Given the description of an element on the screen output the (x, y) to click on. 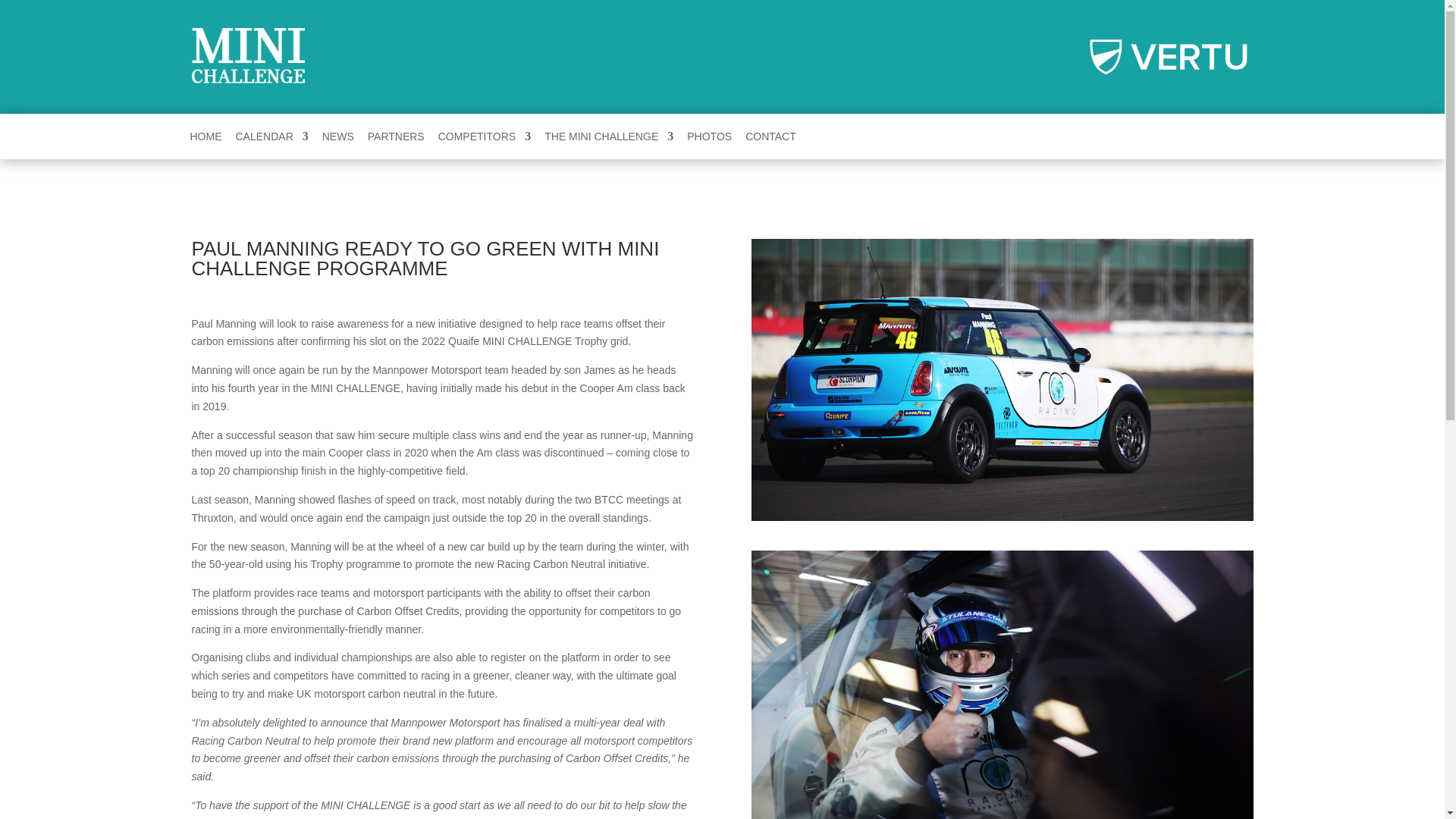
vertu (1169, 56)
